Given the description of an element on the screen output the (x, y) to click on. 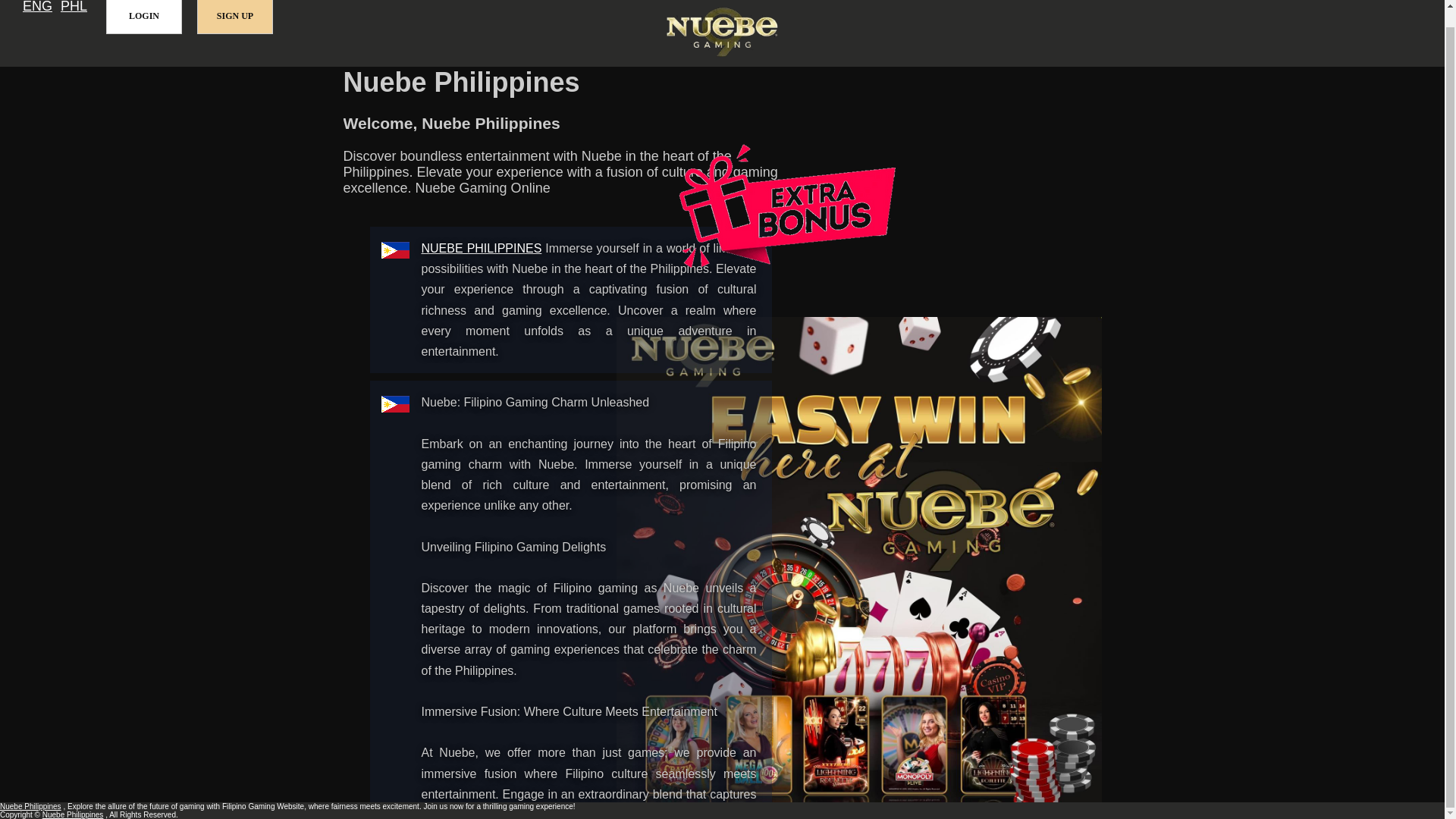
SIGN UP (234, 17)
LOGIN (144, 17)
ENG (37, 7)
Nuebe Philippines (481, 247)
English (37, 7)
Filipino (74, 7)
PHL (74, 7)
Nuebe Philippines (30, 806)
NUEBE PHILIPPINES (481, 247)
Nuebe Philippines Logo (721, 33)
